Given the description of an element on the screen output the (x, y) to click on. 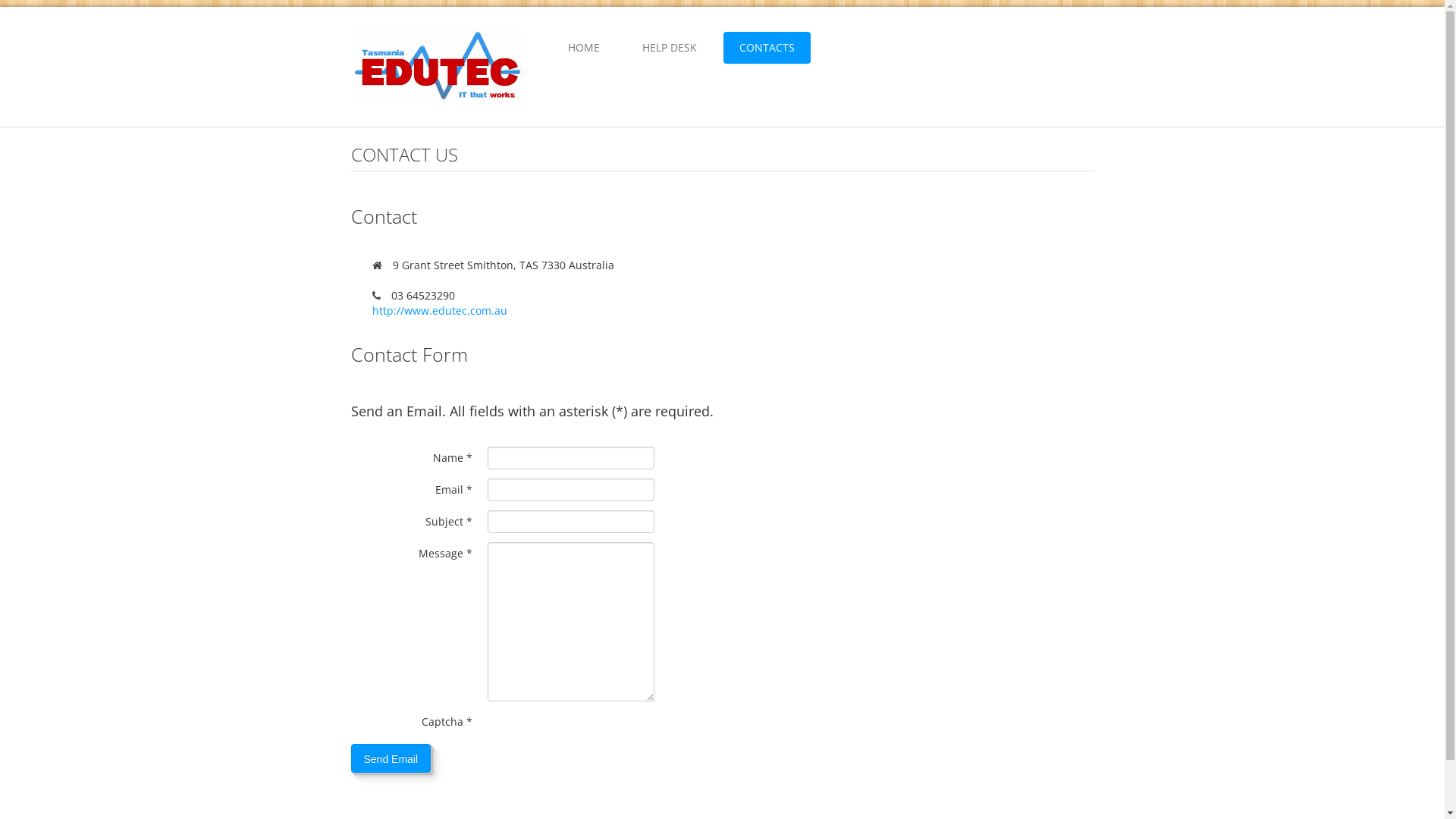
HOME Element type: text (583, 47)
http://www.edutec.com.au Element type: text (438, 310)
Send Email Element type: text (390, 757)
HELP DESK Element type: text (669, 47)
CONTACTS Element type: text (766, 47)
